Given the description of an element on the screen output the (x, y) to click on. 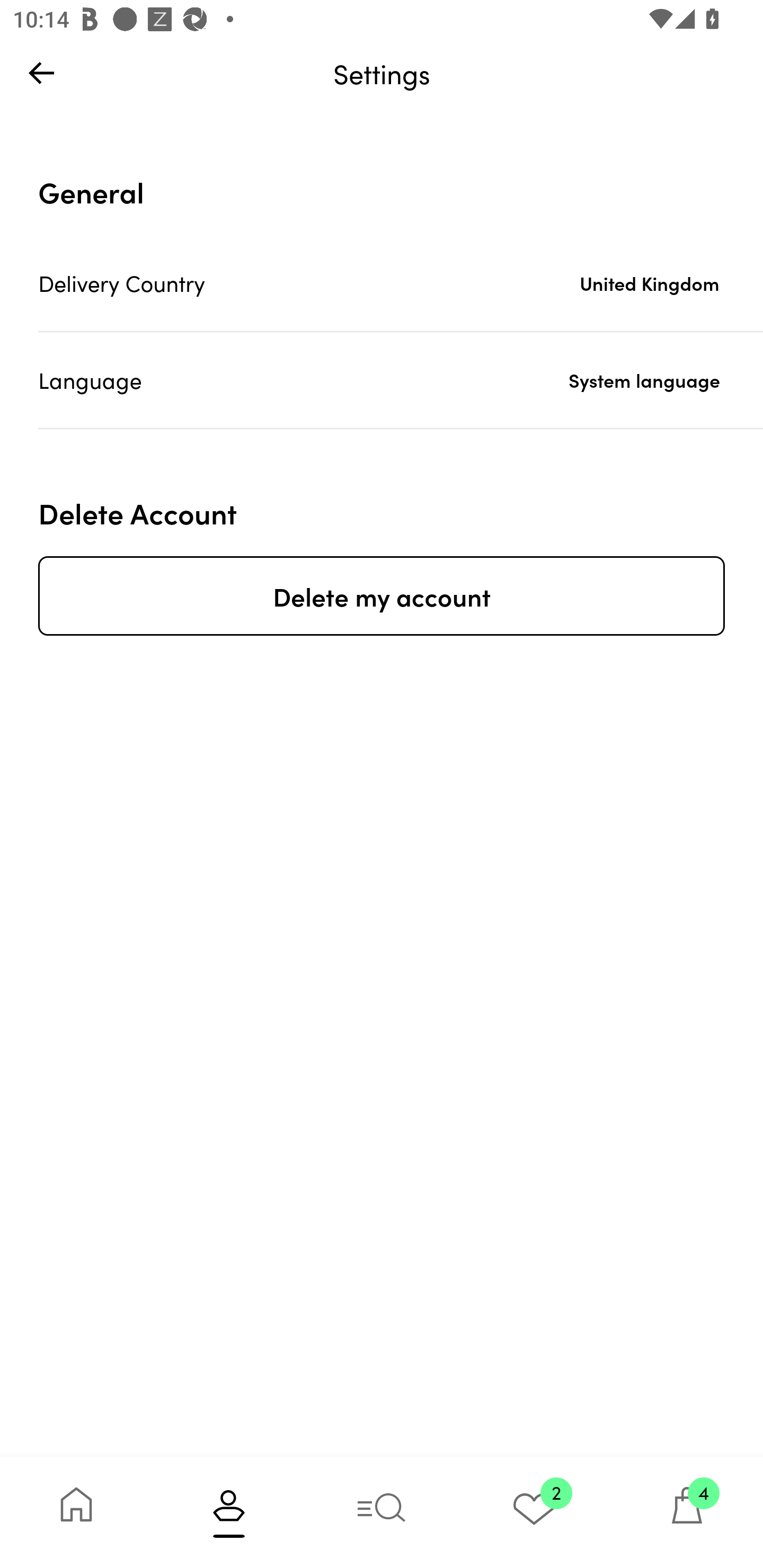
Delivery Country United Kingdom (400, 282)
Language System language (400, 380)
Delete my account (381, 595)
2 (533, 1512)
4 (686, 1512)
